Given the description of an element on the screen output the (x, y) to click on. 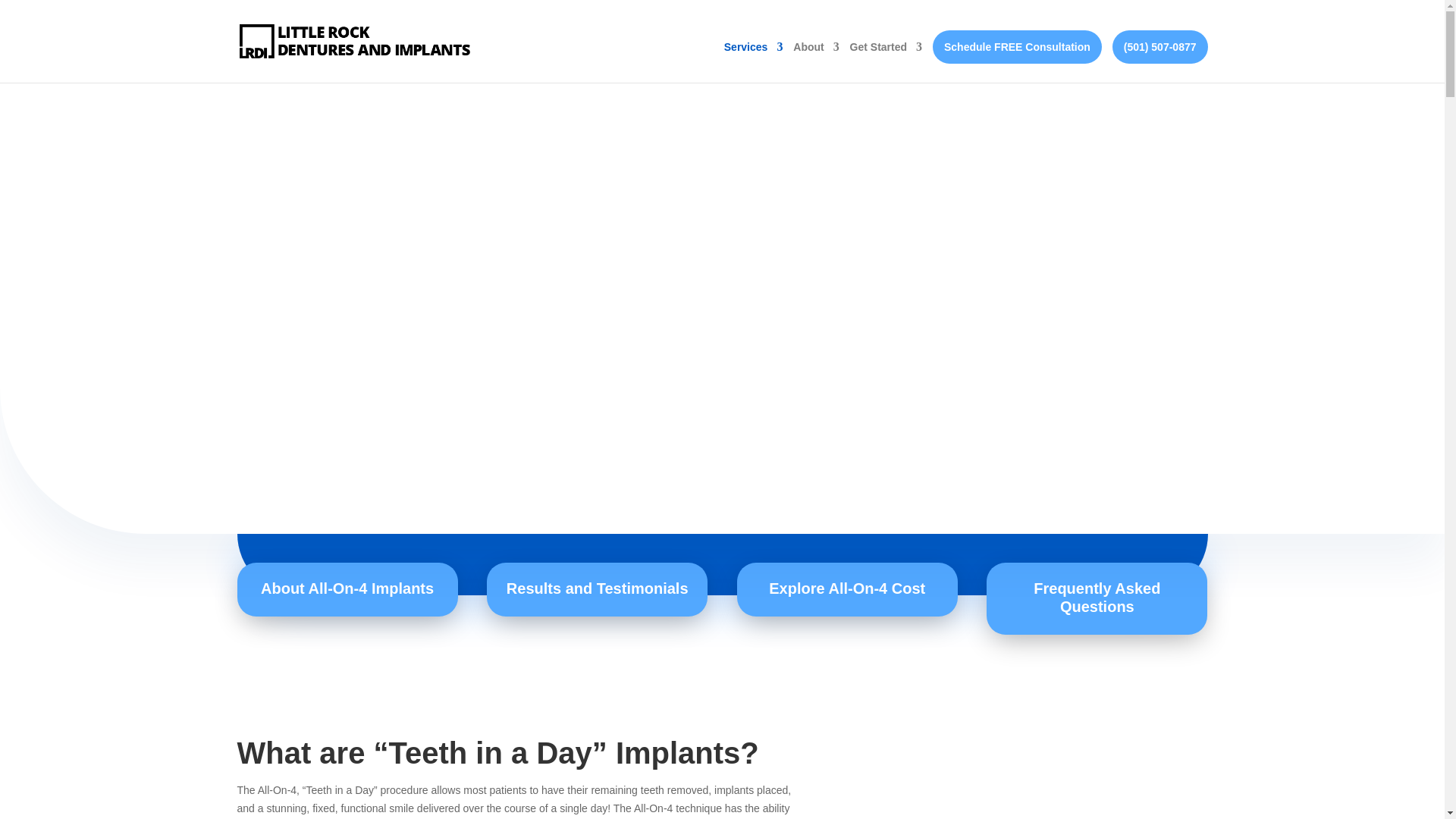
Get Started (885, 61)
Schedule FREE Consultation (1017, 46)
Services (753, 61)
About (815, 61)
